Given the description of an element on the screen output the (x, y) to click on. 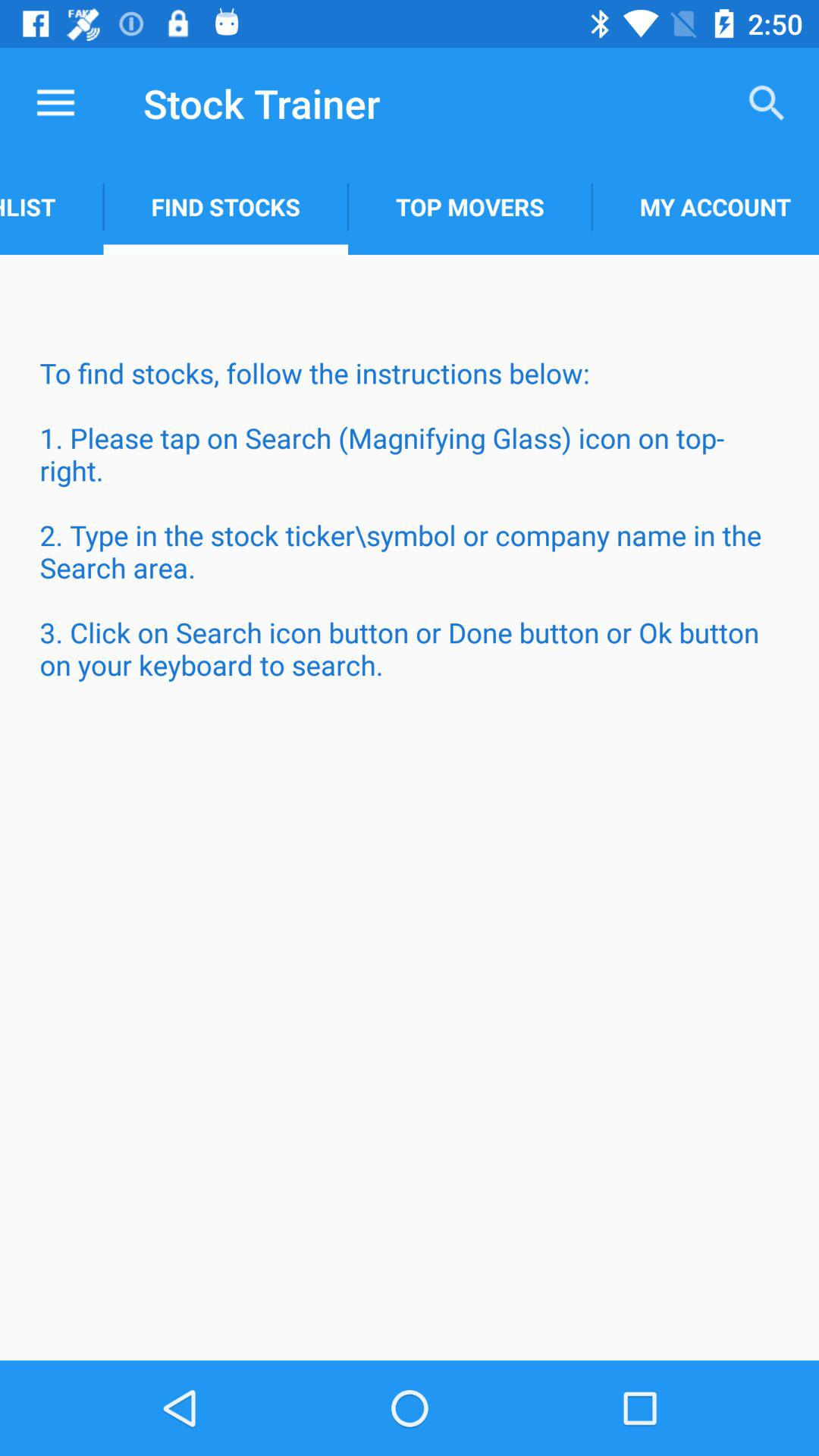
jump until my account item (705, 206)
